Given the description of an element on the screen output the (x, y) to click on. 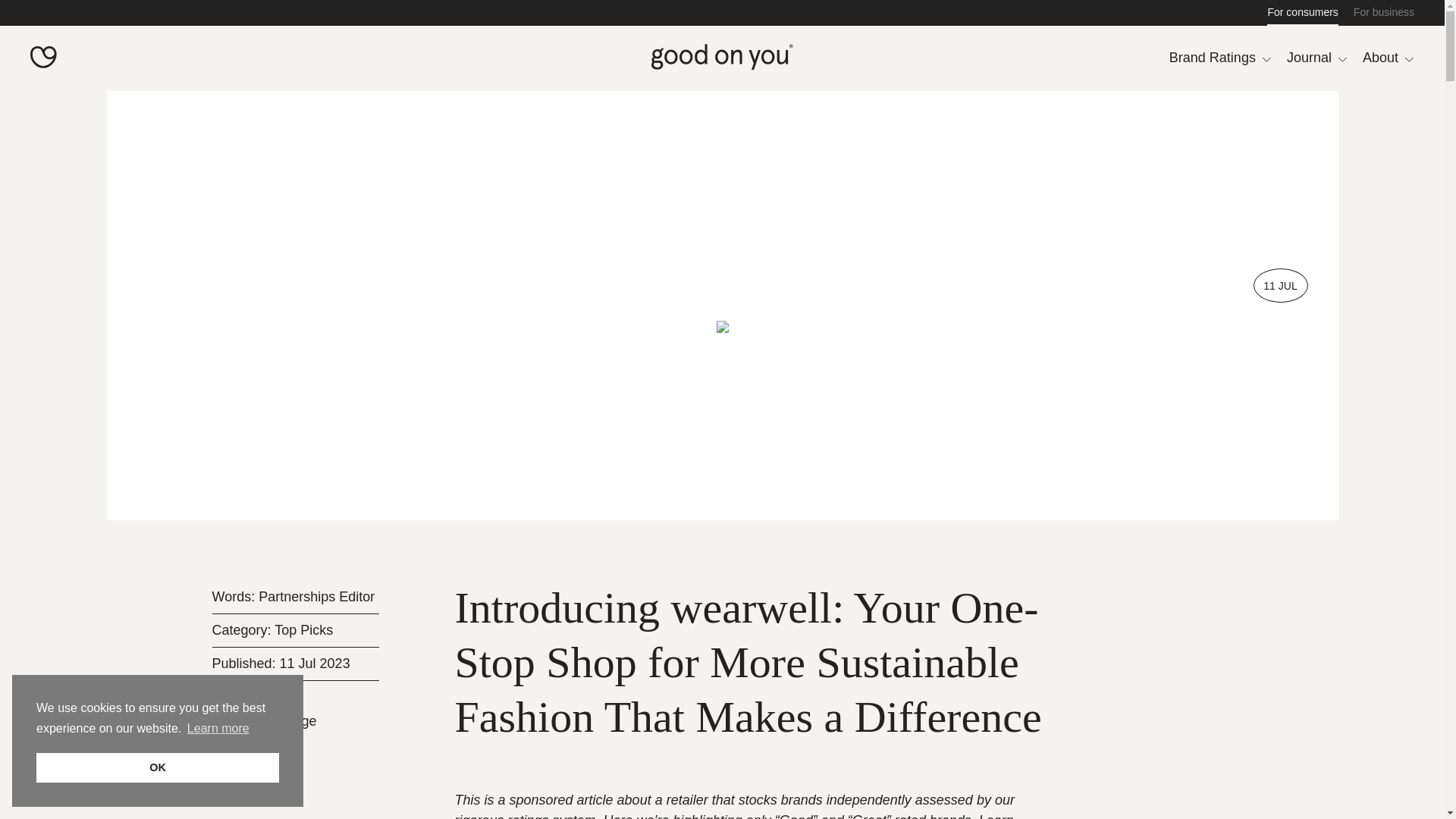
About (1387, 57)
For business (1383, 12)
For consumers (1302, 12)
Brand Ratings (1220, 57)
Learn more (217, 728)
OK (157, 767)
Journal (1317, 57)
